Given the description of an element on the screen output the (x, y) to click on. 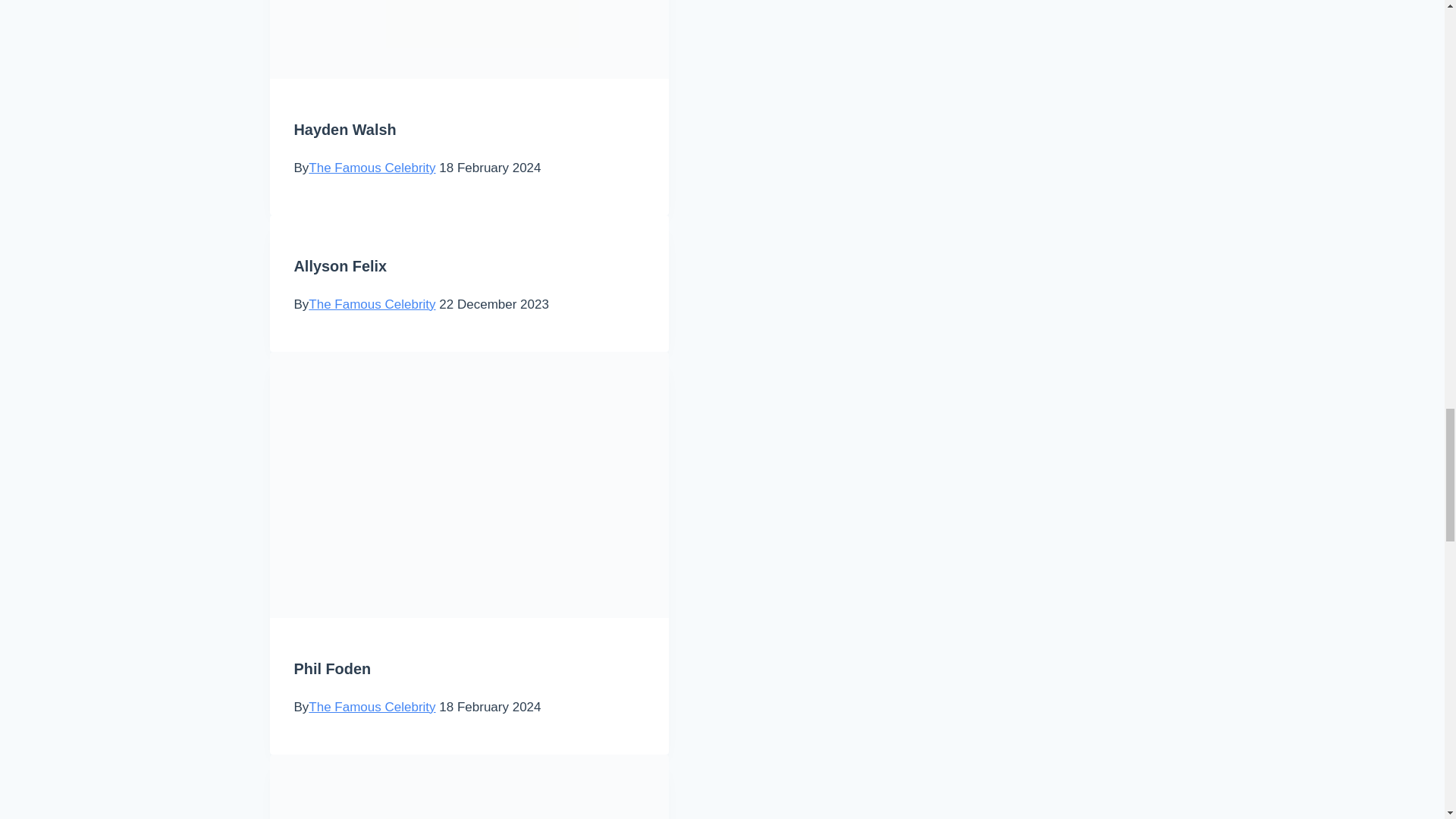
The Famous Celebrity (371, 304)
Hayden Walsh (345, 129)
The Famous Celebrity (371, 707)
Allyson Felix (340, 265)
The Famous Celebrity (371, 167)
Phil Foden (332, 668)
